Given the description of an element on the screen output the (x, y) to click on. 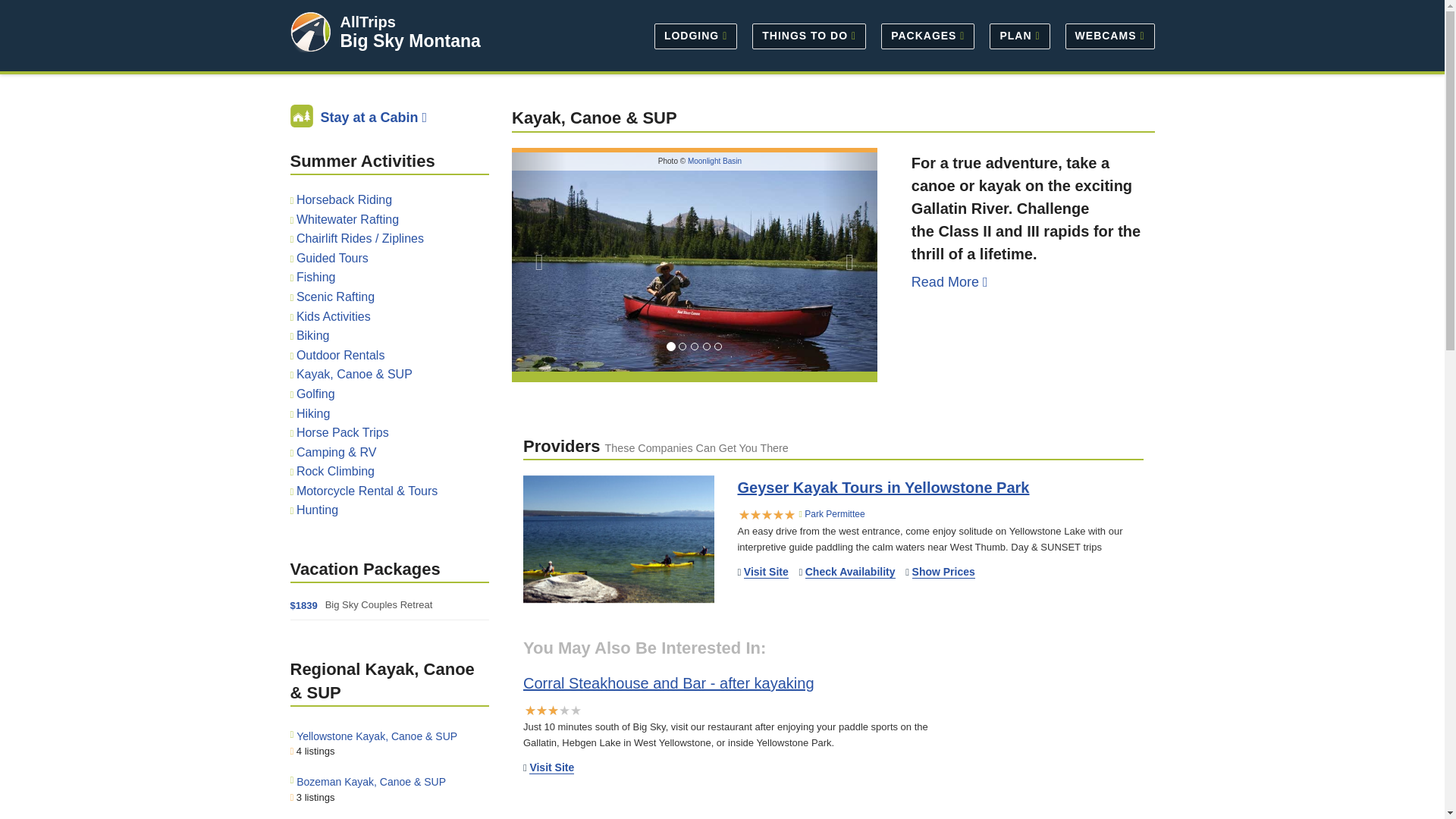
Moonlight Basin (714, 161)
Big Sky Montana (409, 40)
PACKAGES (927, 35)
THINGS TO DO (808, 35)
AllTrips (366, 21)
LODGING (695, 35)
PLAN (1019, 35)
WEBCAMS (1106, 35)
